Given the description of an element on the screen output the (x, y) to click on. 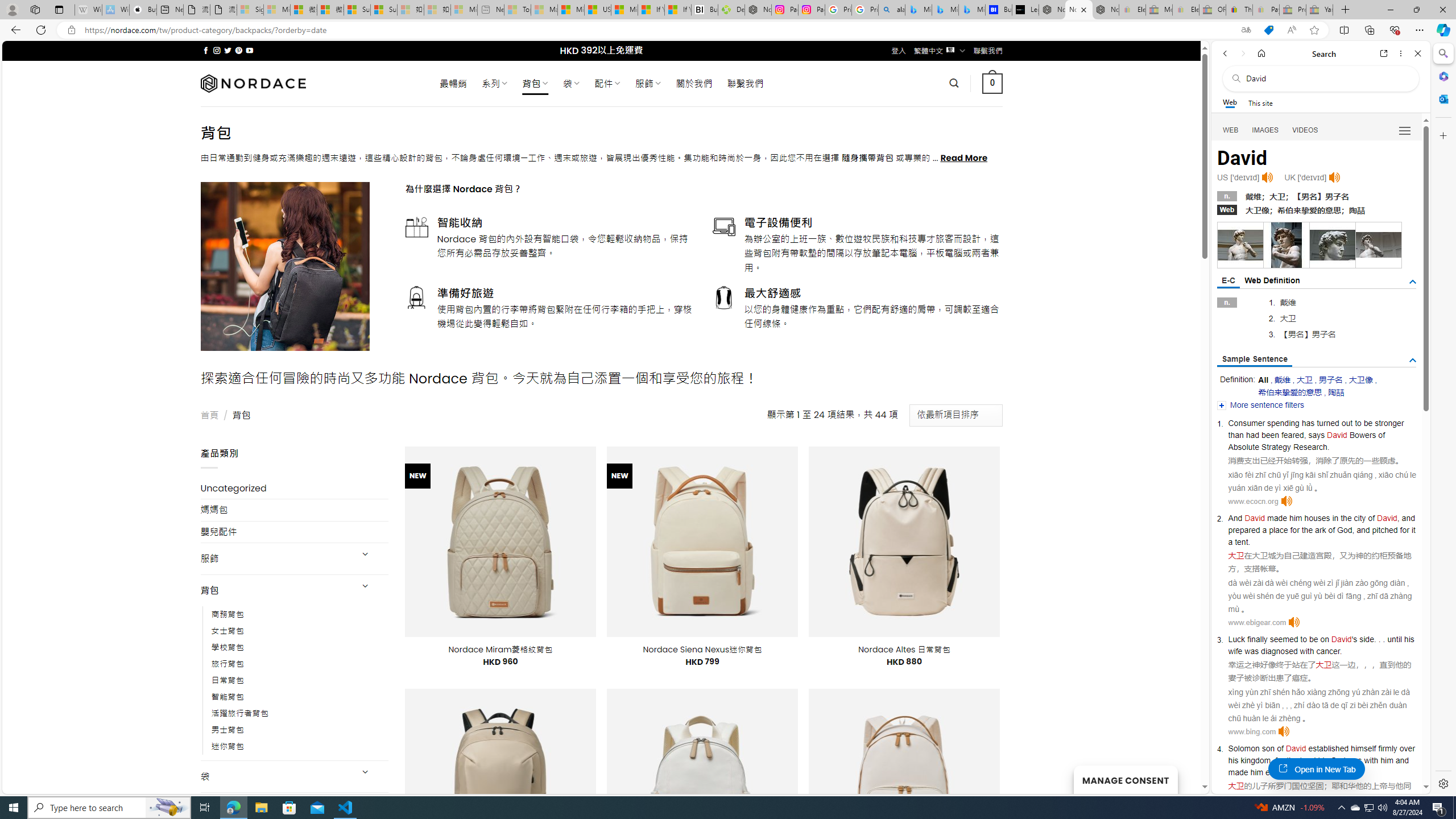
with (1371, 759)
, (1272, 759)
Descarga Driver Updater (731, 9)
on (1324, 638)
Press Room - eBay Inc. - Sleeping (1292, 9)
Nordace (252, 83)
